Given the description of an element on the screen output the (x, y) to click on. 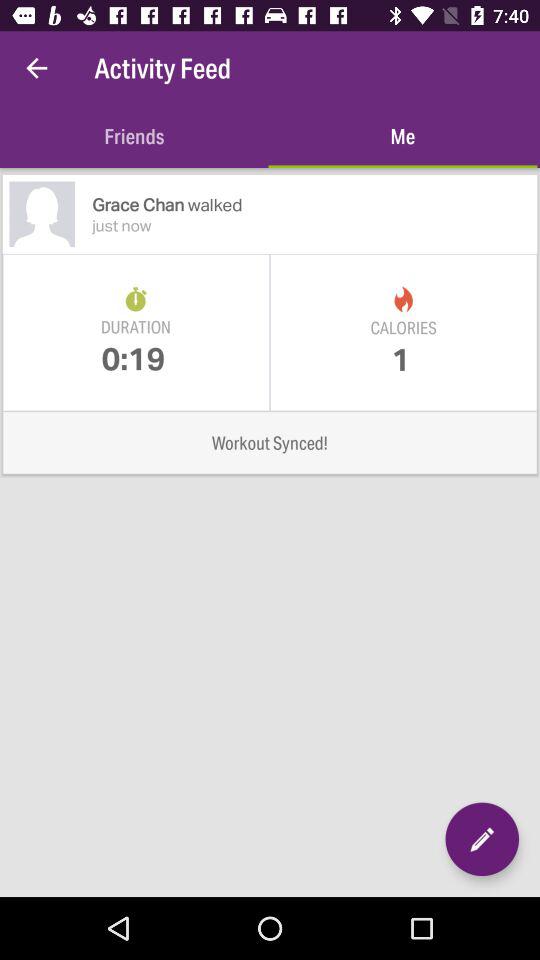
tap edit option (482, 839)
